Given the description of an element on the screen output the (x, y) to click on. 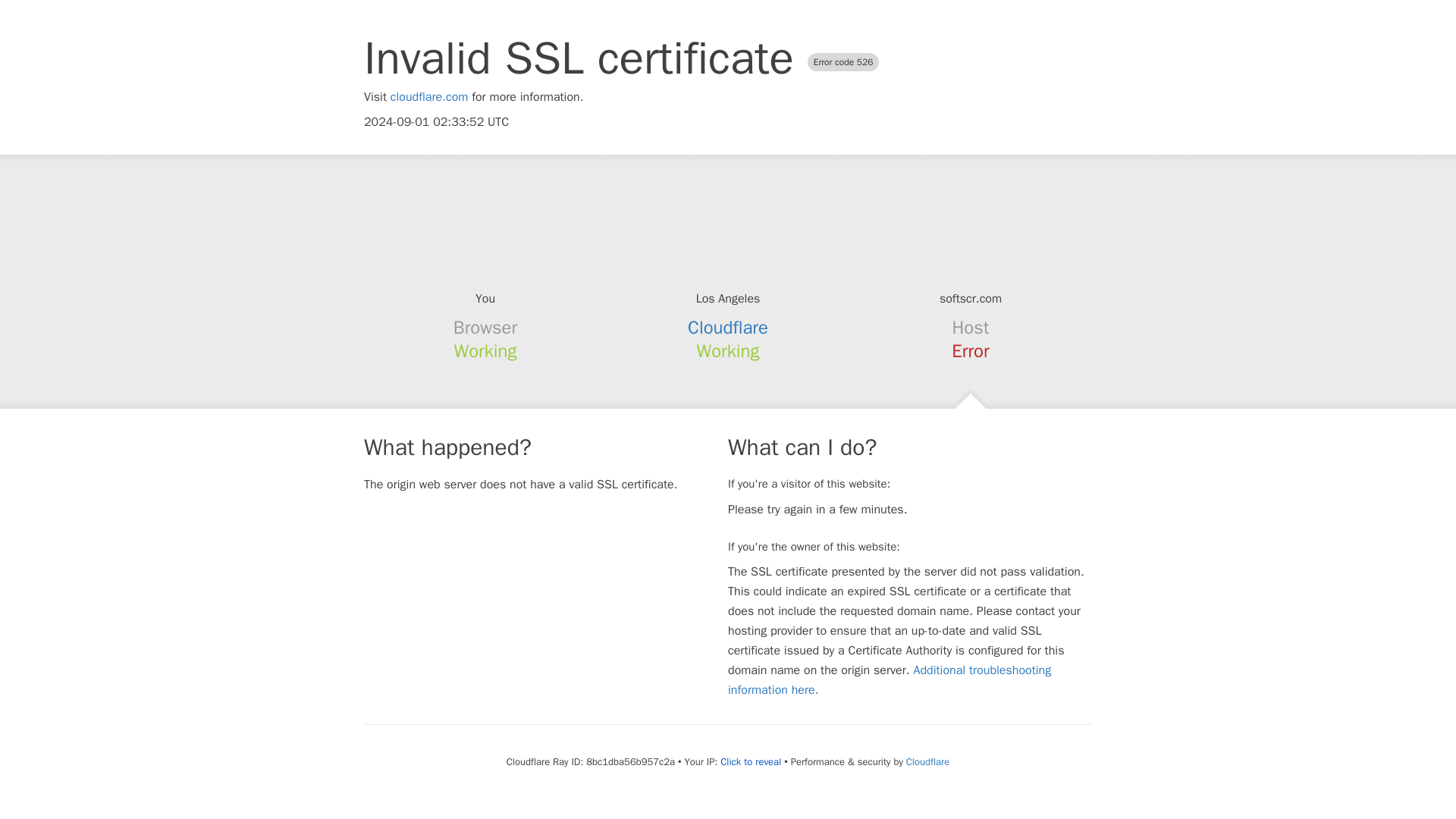
cloudflare.com (429, 96)
Cloudflare (727, 327)
Additional troubleshooting information here. (889, 679)
Cloudflare (927, 761)
Click to reveal (750, 762)
